Given the description of an element on the screen output the (x, y) to click on. 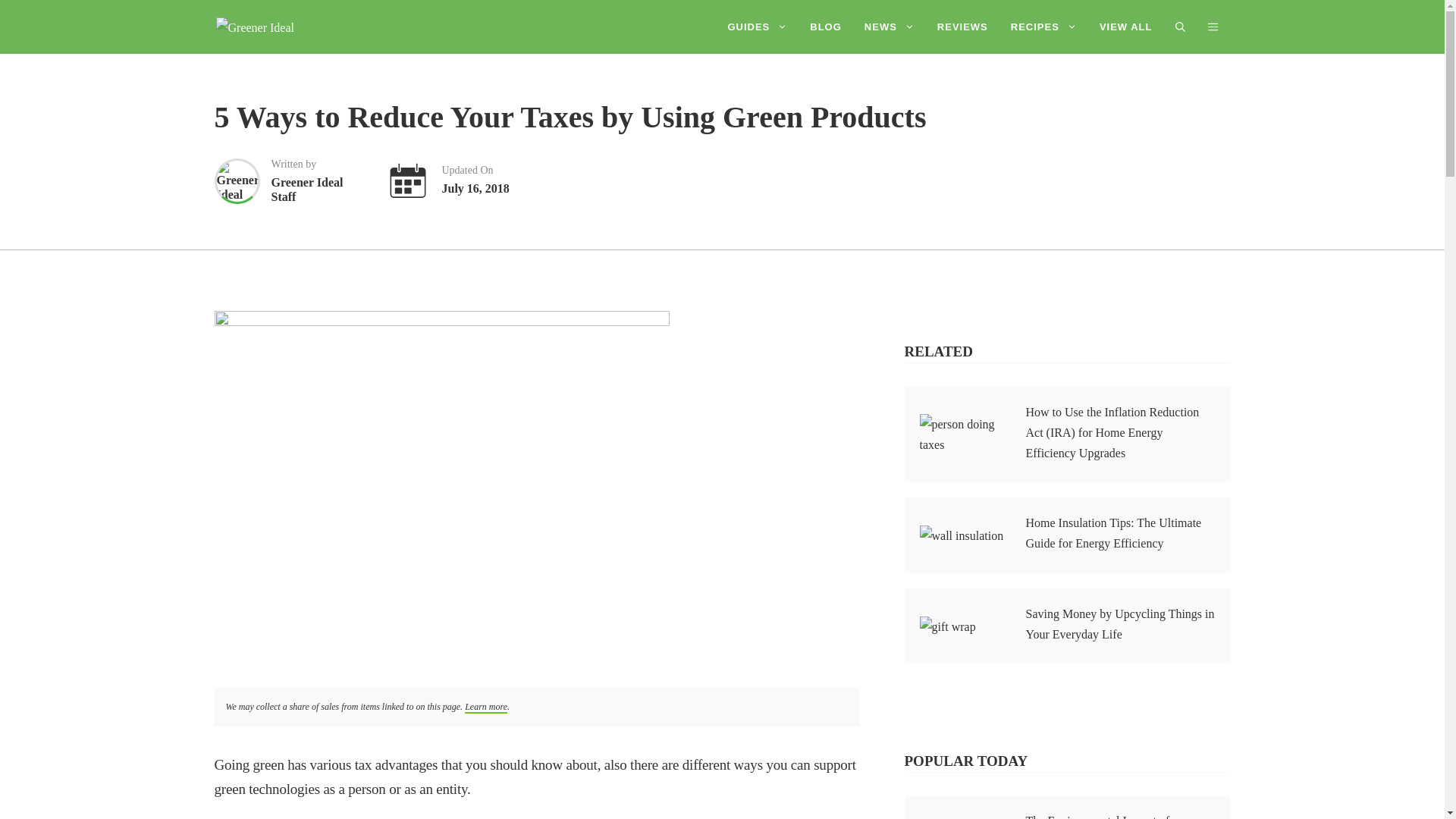
Learn more (485, 707)
VIEW ALL (1125, 27)
BLOG (825, 27)
NEWS (889, 27)
Greener Ideal Staff (237, 179)
Greener Ideal Staff (318, 180)
GUIDES (756, 27)
Greener Ideal Staff (318, 180)
REVIEWS (962, 27)
RECIPES (1042, 27)
